Given the description of an element on the screen output the (x, y) to click on. 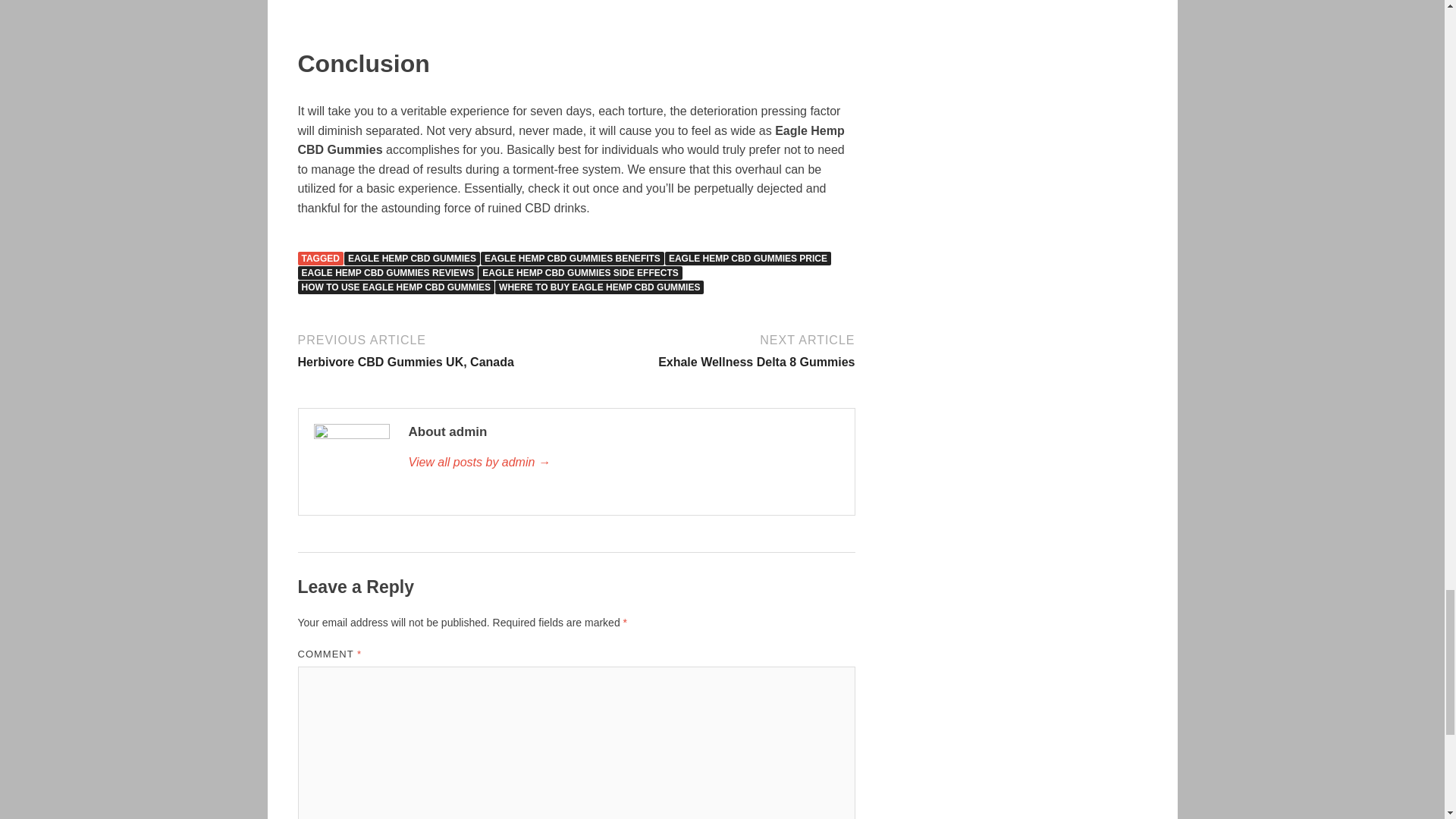
HOW TO USE EAGLE HEMP CBD GUMMIES (396, 287)
EAGLE HEMP CBD GUMMIES REVIEWS (387, 273)
WHERE TO BUY EAGLE HEMP CBD GUMMIES (599, 287)
EAGLE HEMP CBD GUMMIES BENEFITS (571, 258)
EAGLE HEMP CBD GUMMIES SIDE EFFECTS (580, 273)
EAGLE HEMP CBD GUMMIES (411, 258)
admin (717, 349)
EAGLE HEMP CBD GUMMIES PRICE (622, 462)
